Given the description of an element on the screen output the (x, y) to click on. 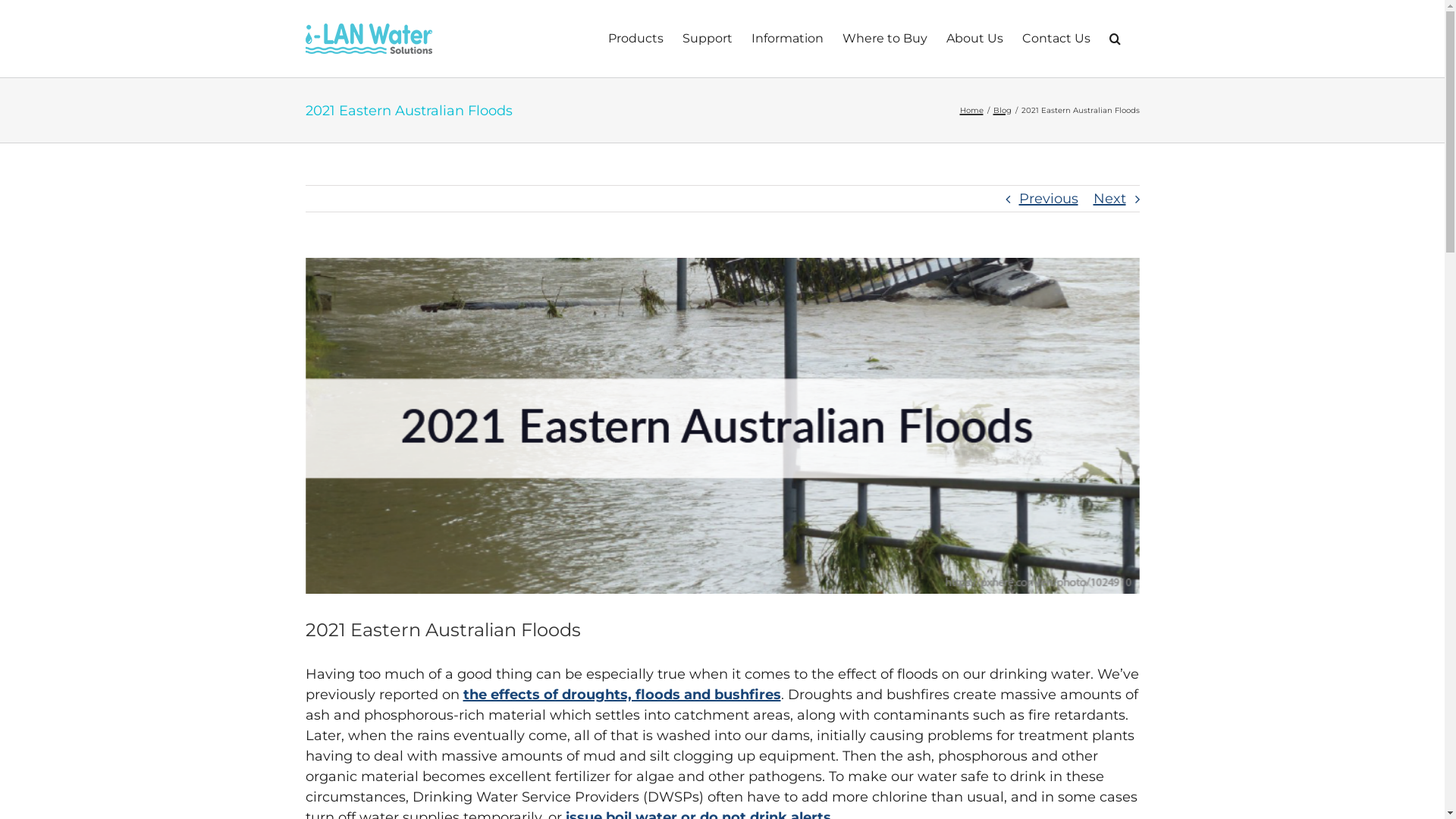
Next Element type: text (1109, 198)
Home Element type: text (971, 110)
Support Element type: text (707, 38)
the effects of droughts, floods and bushfires Element type: text (621, 694)
View Larger Image Element type: text (721, 425)
About Us Element type: text (974, 38)
Products Element type: text (635, 38)
Where to Buy Element type: text (883, 38)
Search Element type: hover (1114, 38)
Contact Us Element type: text (1056, 38)
Information Element type: text (786, 38)
Previous Element type: text (1048, 198)
Blog Element type: text (1002, 110)
